Given the description of an element on the screen output the (x, y) to click on. 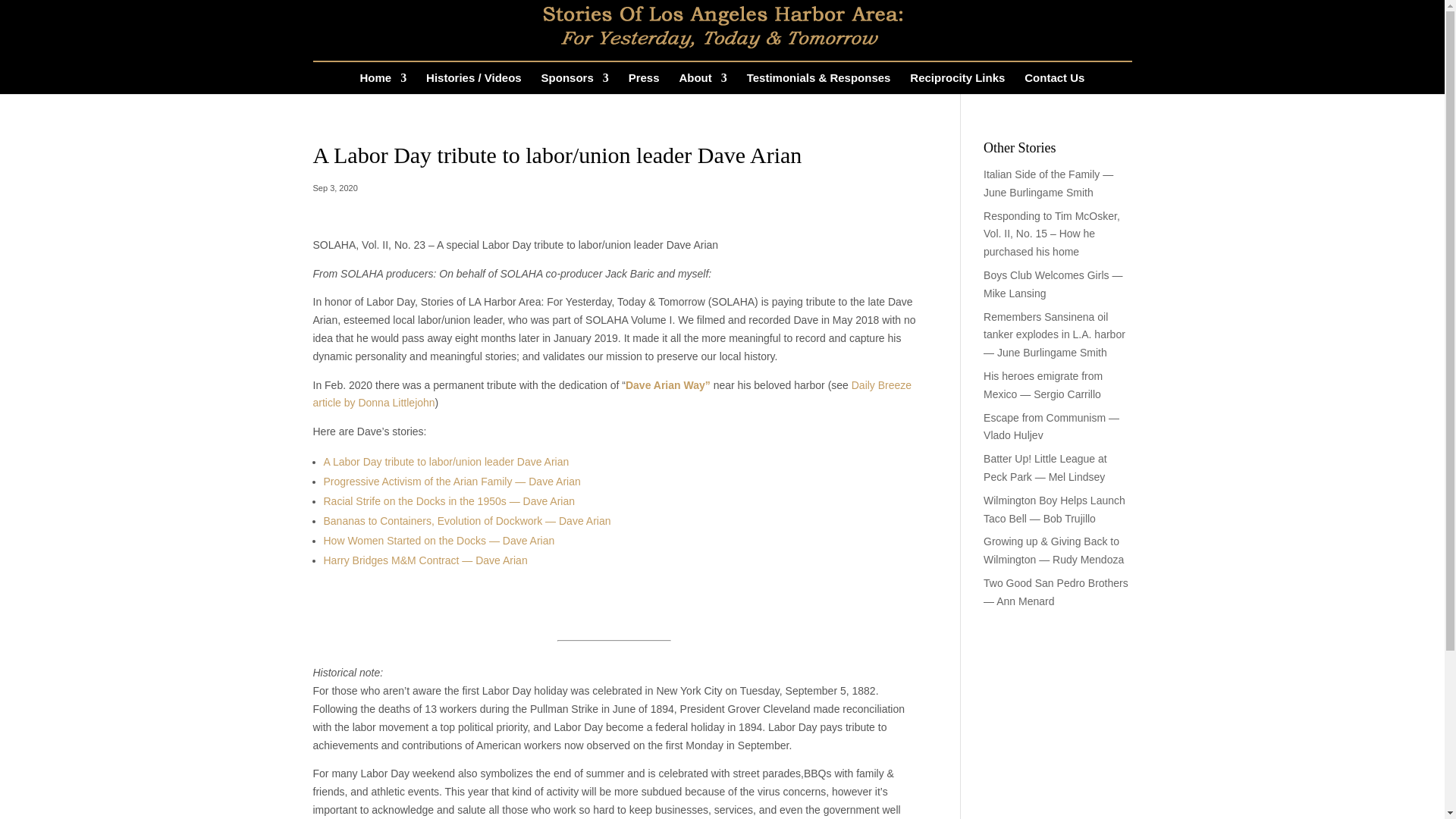
Sponsors (574, 83)
Home (383, 83)
Reciprocity Links (957, 83)
About (702, 83)
Contact Us (1054, 83)
Daily Breeze article by Donna Littlejohn (612, 394)
Press (643, 83)
